Given the description of an element on the screen output the (x, y) to click on. 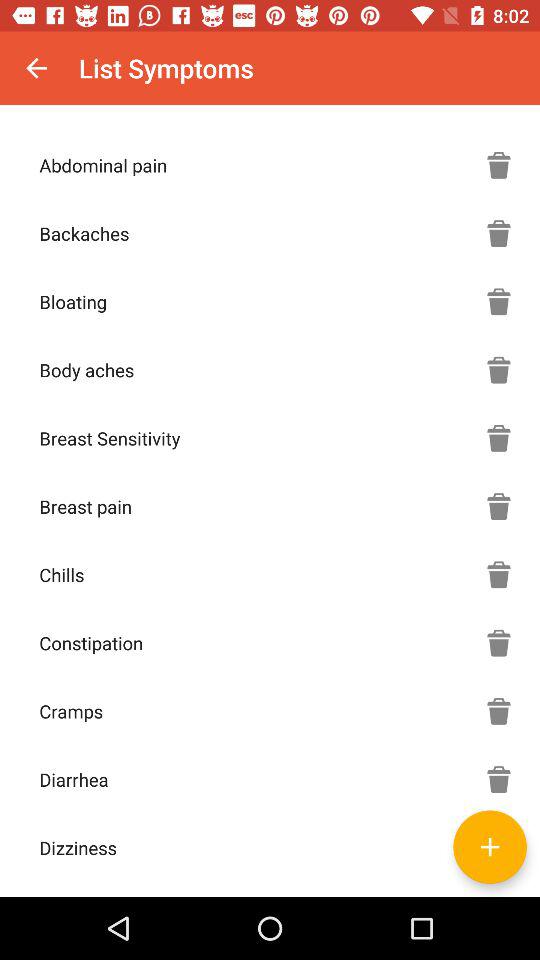
remove symptom (499, 233)
